Given the description of an element on the screen output the (x, y) to click on. 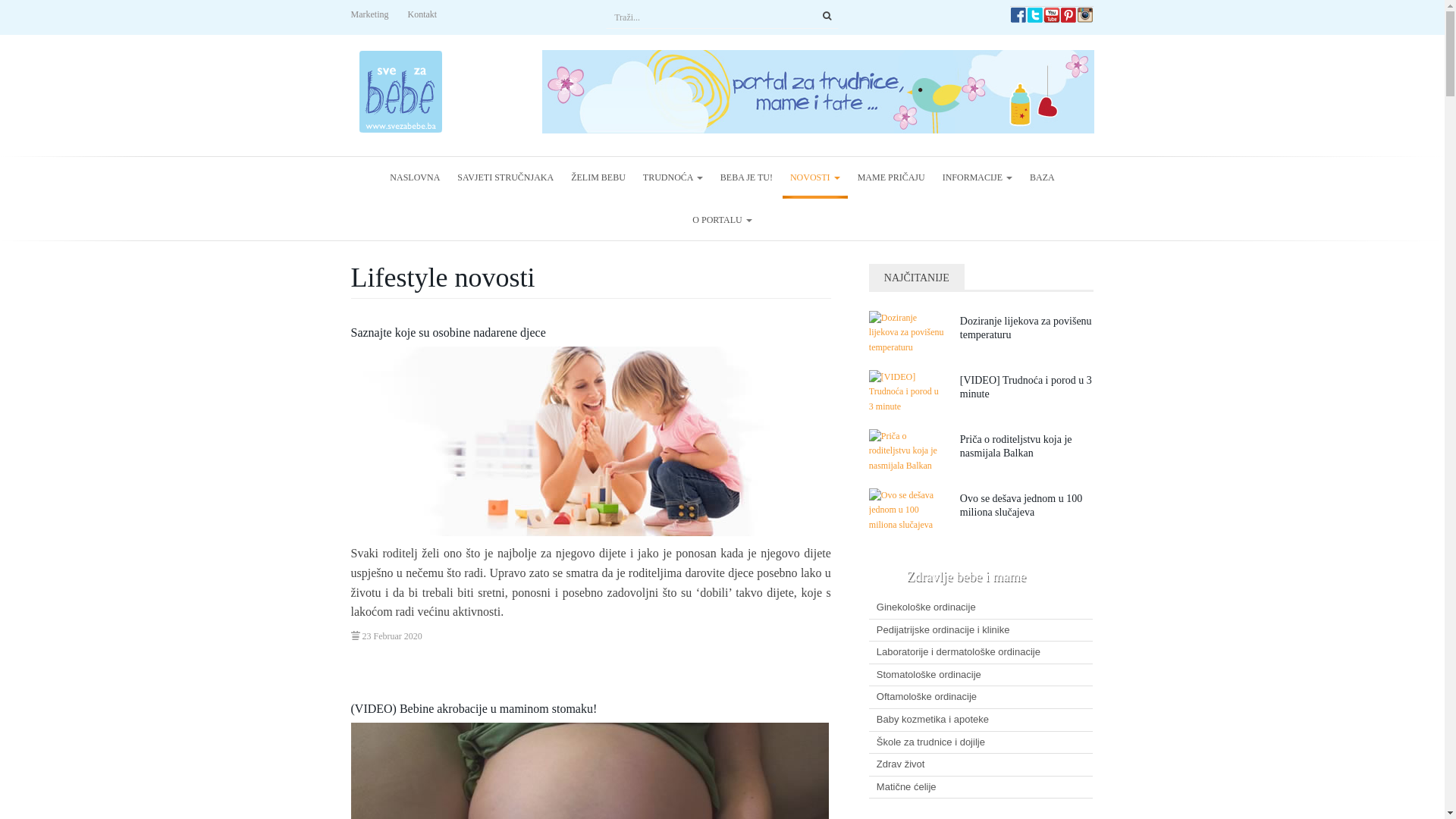
svezabebe.ba Instagram Element type: hover (1084, 14)
Kontakt Element type: text (422, 14)
INFORMACIJE Element type: text (977, 177)
O PORTALU Element type: text (721, 219)
NOVOSTI Element type: text (814, 177)
Saznajte koje su osobine nadarene djece Element type: text (447, 332)
BEBA JE TU! Element type: text (746, 177)
BAZA Element type: text (1042, 177)
NASLOVNA Element type: text (414, 177)
(VIDEO) Bebine akrobacije u maminom stomaku! Element type: text (473, 708)
svezabebe.ba | Portal za trudnice, mame, tate i djecu Element type: hover (399, 91)
Marketing Element type: text (369, 14)
Baby kozmetika i apoteke Element type: text (980, 720)
Pedijatrijske ordinacije i klinike Element type: text (980, 630)
